Given the description of an element on the screen output the (x, y) to click on. 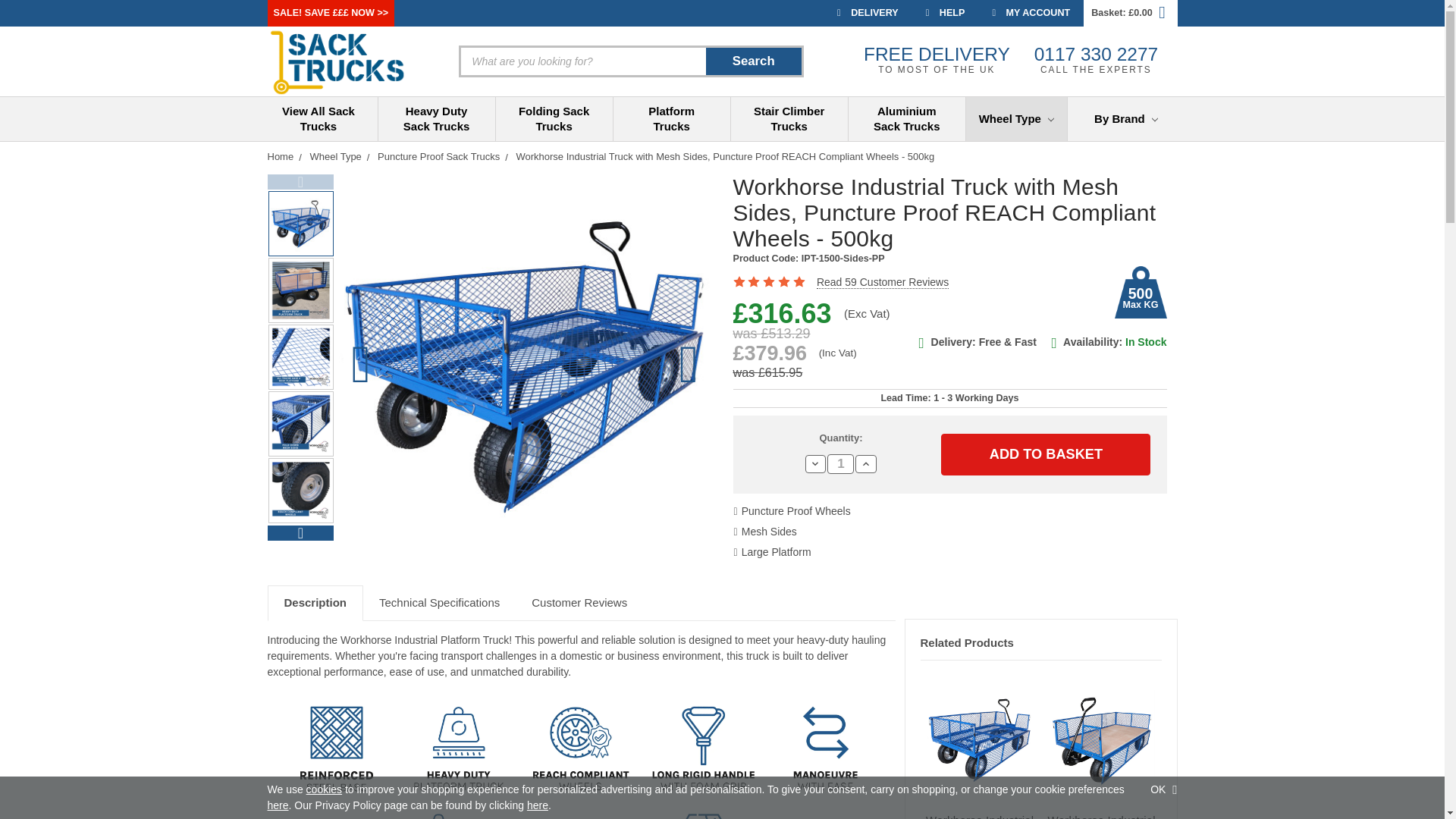
1 (840, 464)
Heavy Duty Sack Trucks (436, 118)
Folding Sack Trucks (554, 118)
cookies (323, 788)
Search (754, 61)
By Brand (1126, 118)
Platform Trucks (671, 118)
Wheel Type (1016, 118)
SackTrucks.co.uk (337, 61)
HELP (945, 13)
Aluminium Sack Trucks (906, 118)
here (277, 805)
